Given the description of an element on the screen output the (x, y) to click on. 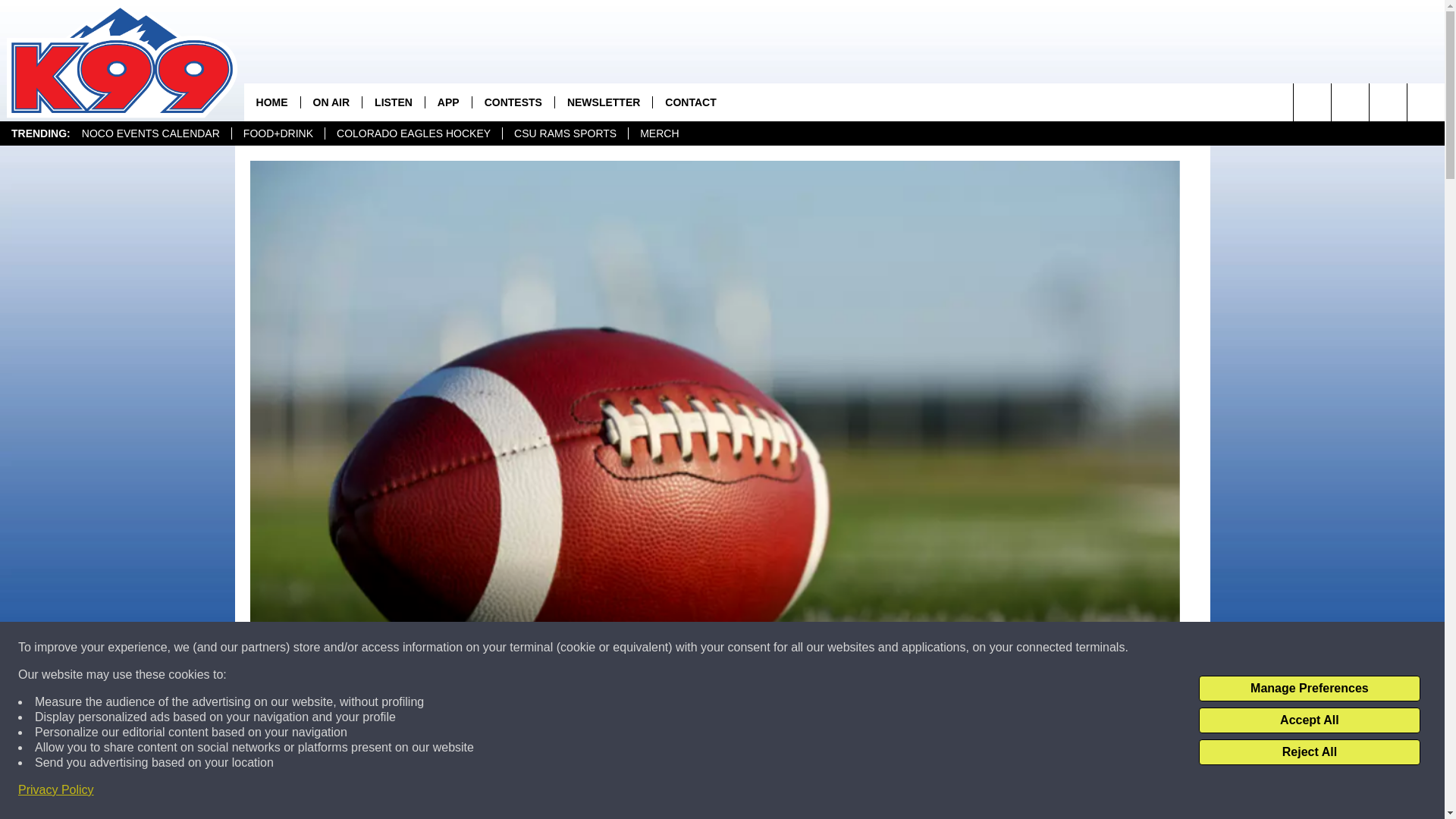
NOCO EVENTS CALENDAR (150, 133)
CONTESTS (512, 102)
Manage Preferences (1309, 688)
LISTEN (393, 102)
Privacy Policy (55, 789)
Reject All (1309, 751)
Accept All (1309, 720)
COLORADO EAGLES HOCKEY (413, 133)
ON AIR (330, 102)
HOME (271, 102)
CSU RAMS SPORTS (564, 133)
NEWSLETTER (603, 102)
APP (448, 102)
Share on Twitter (912, 791)
MERCH (658, 133)
